Given the description of an element on the screen output the (x, y) to click on. 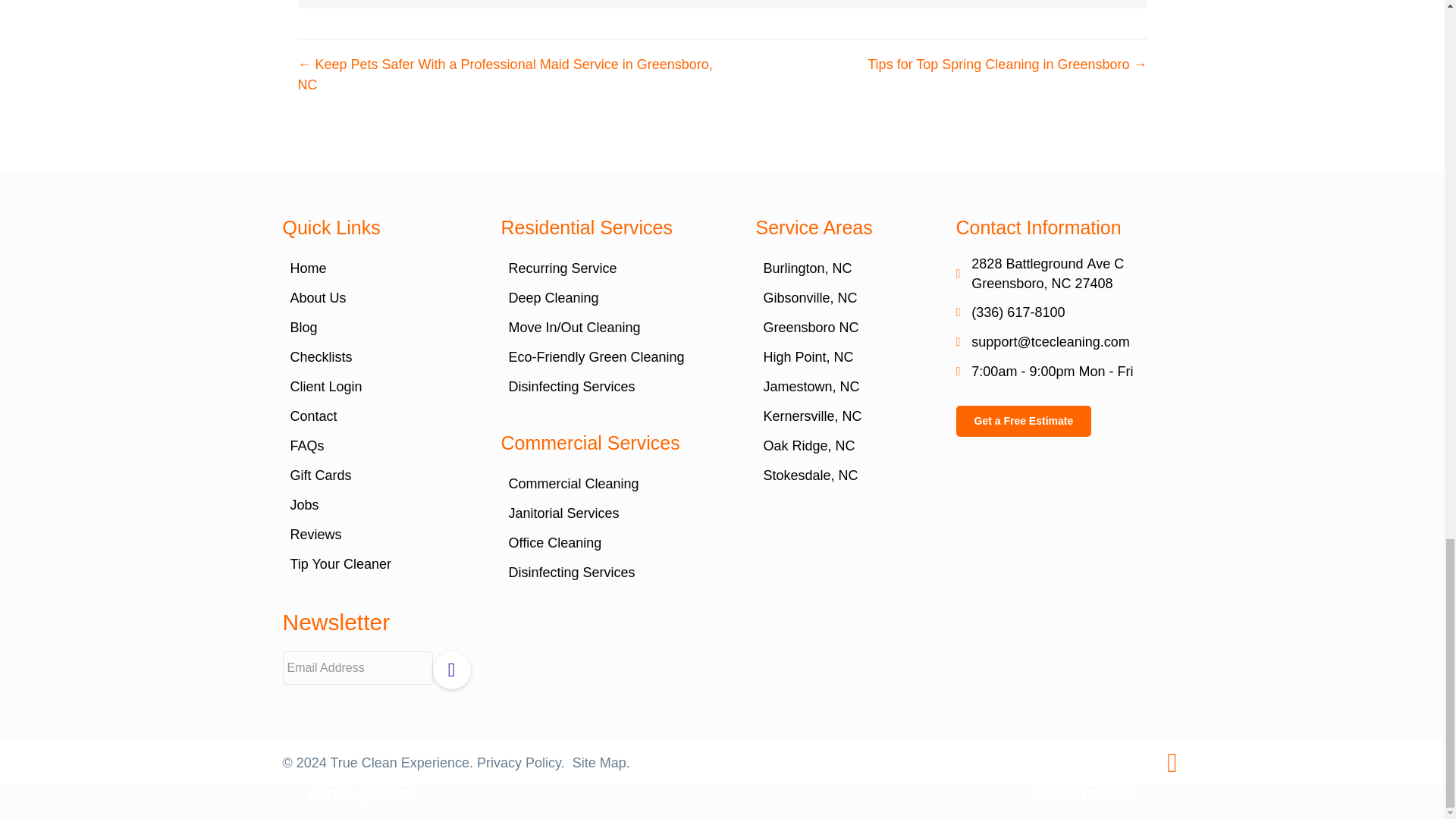
Checklists (376, 357)
Blog (376, 327)
Home (376, 267)
About Us (376, 297)
